Given the description of an element on the screen output the (x, y) to click on. 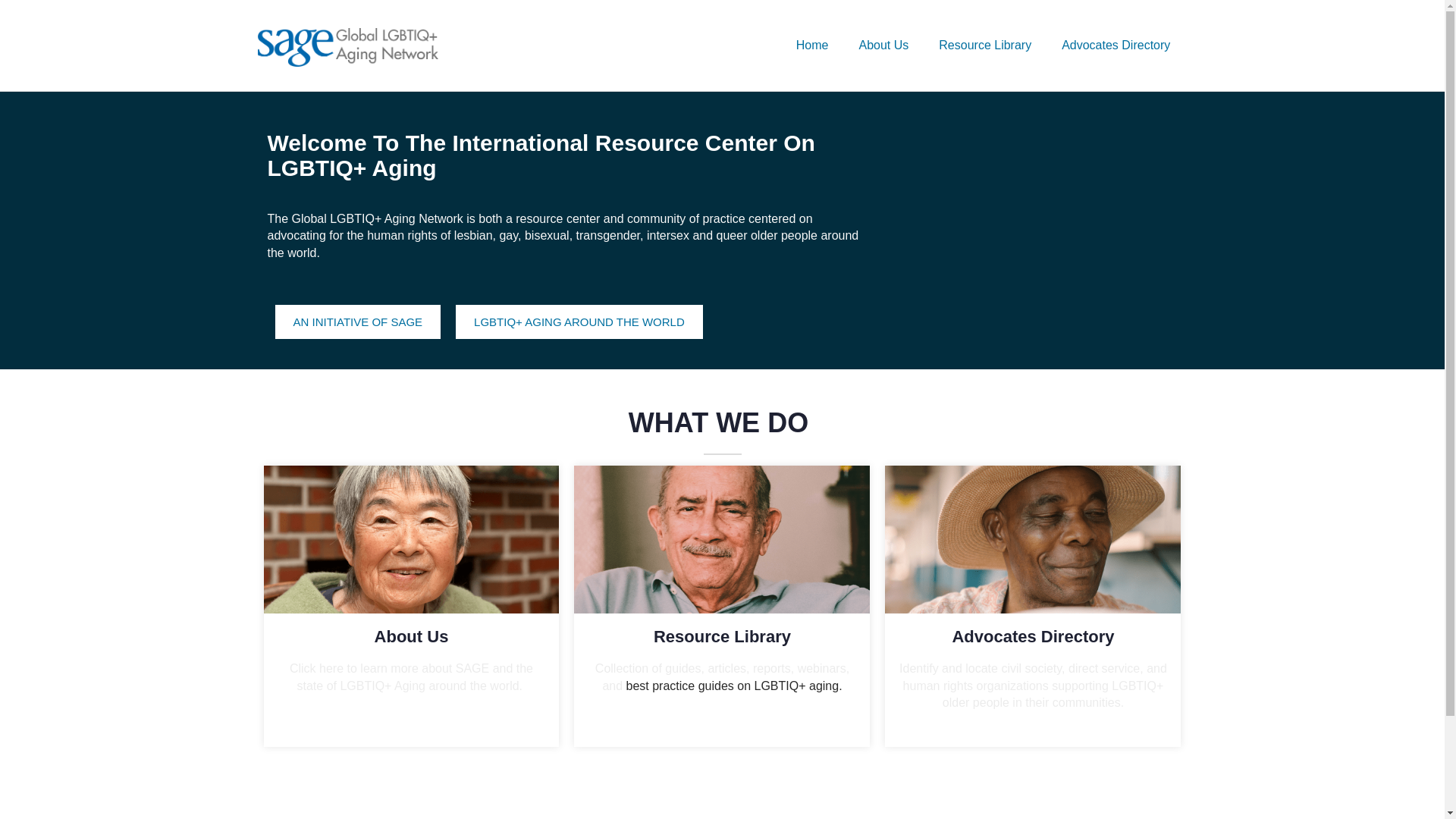
Advocates Directory (1032, 636)
Resource Library (721, 636)
About Us (883, 45)
Home (812, 45)
Resource Library (984, 45)
AN INITIATIVE OF SAGE (358, 321)
About Us (411, 636)
Advocates Directory (1115, 45)
